Given the description of an element on the screen output the (x, y) to click on. 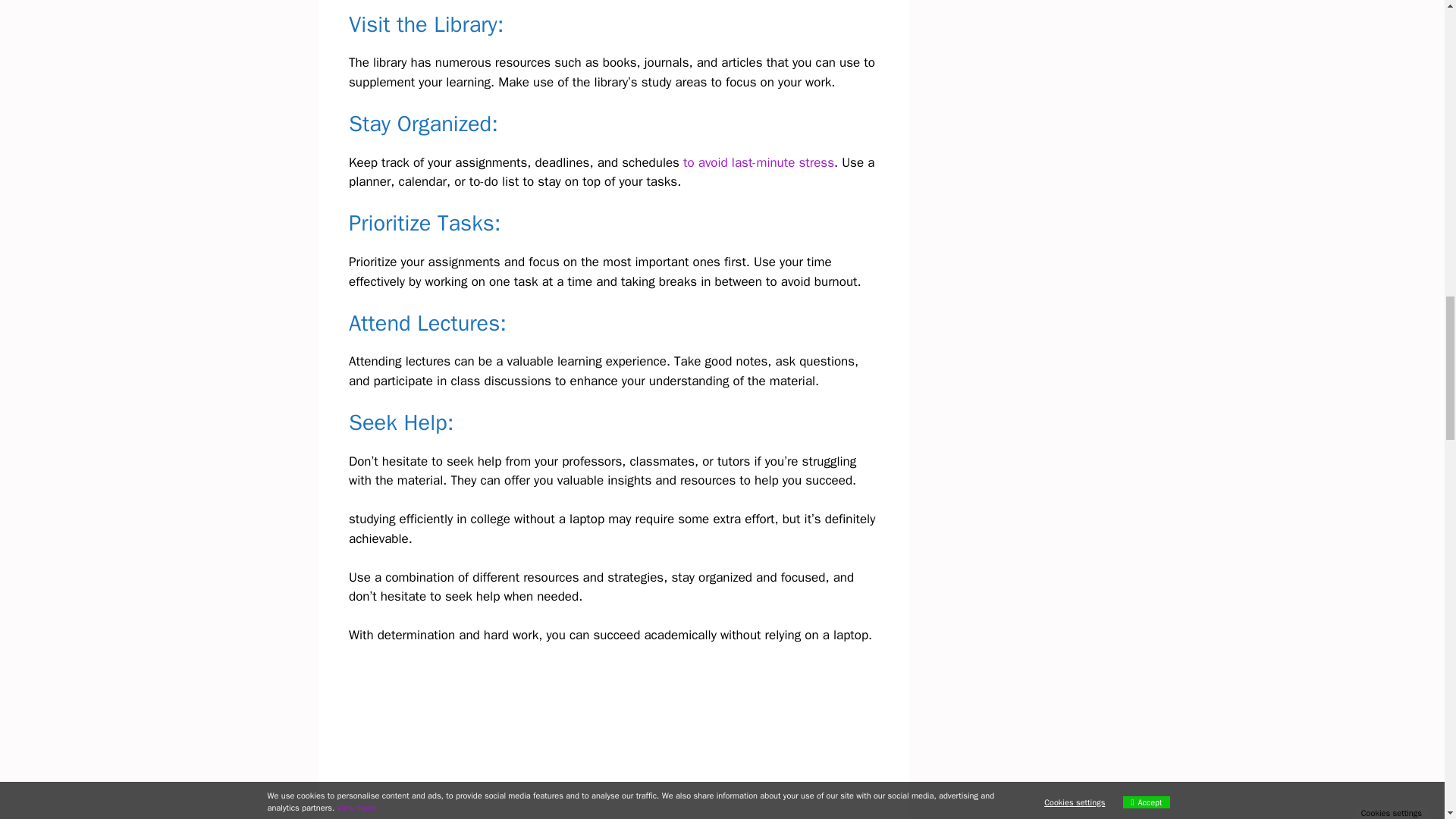
to avoid last-minute stress (758, 162)
